Given the description of an element on the screen output the (x, y) to click on. 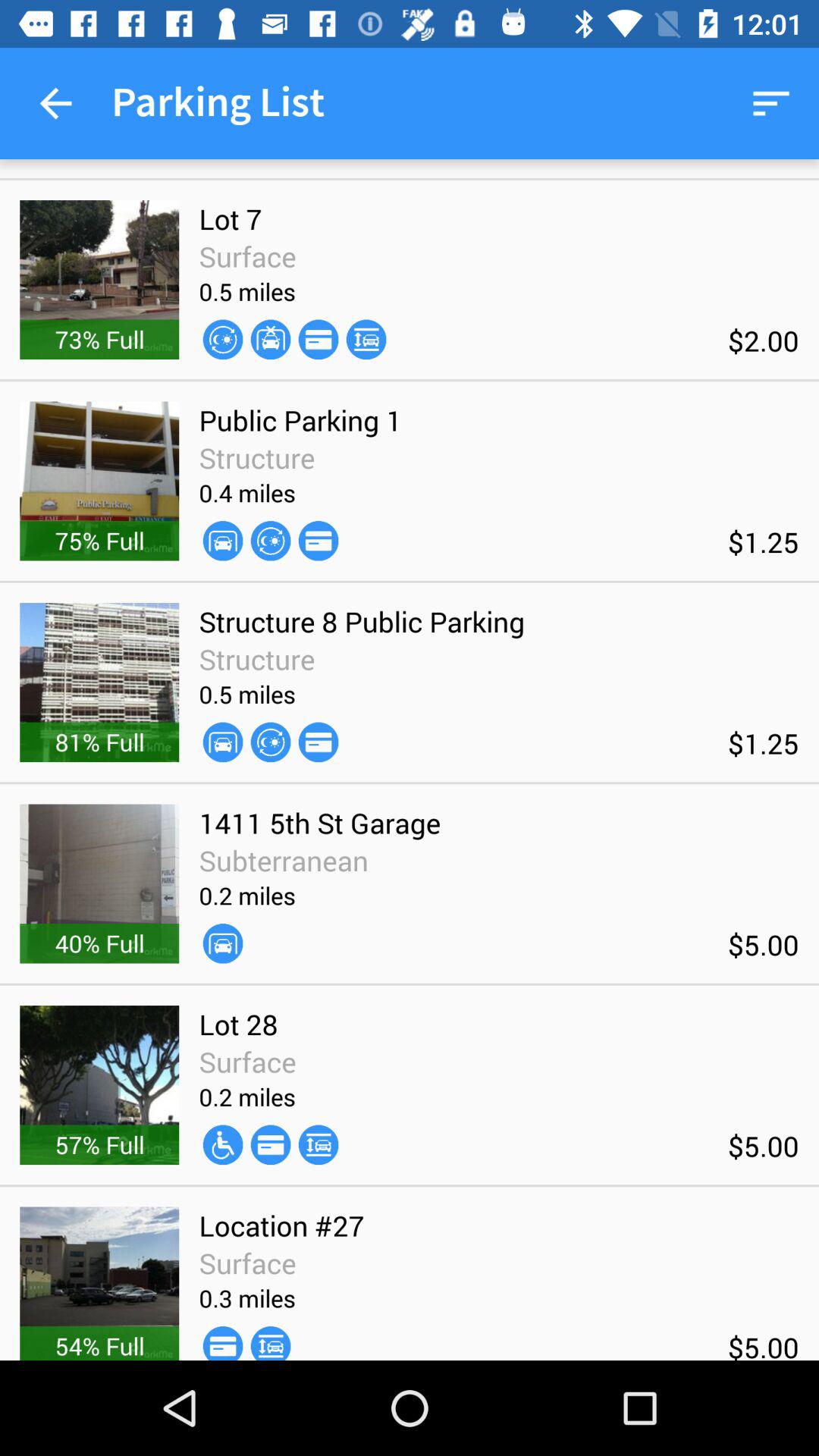
launch the 40% full (99, 943)
